Given the description of an element on the screen output the (x, y) to click on. 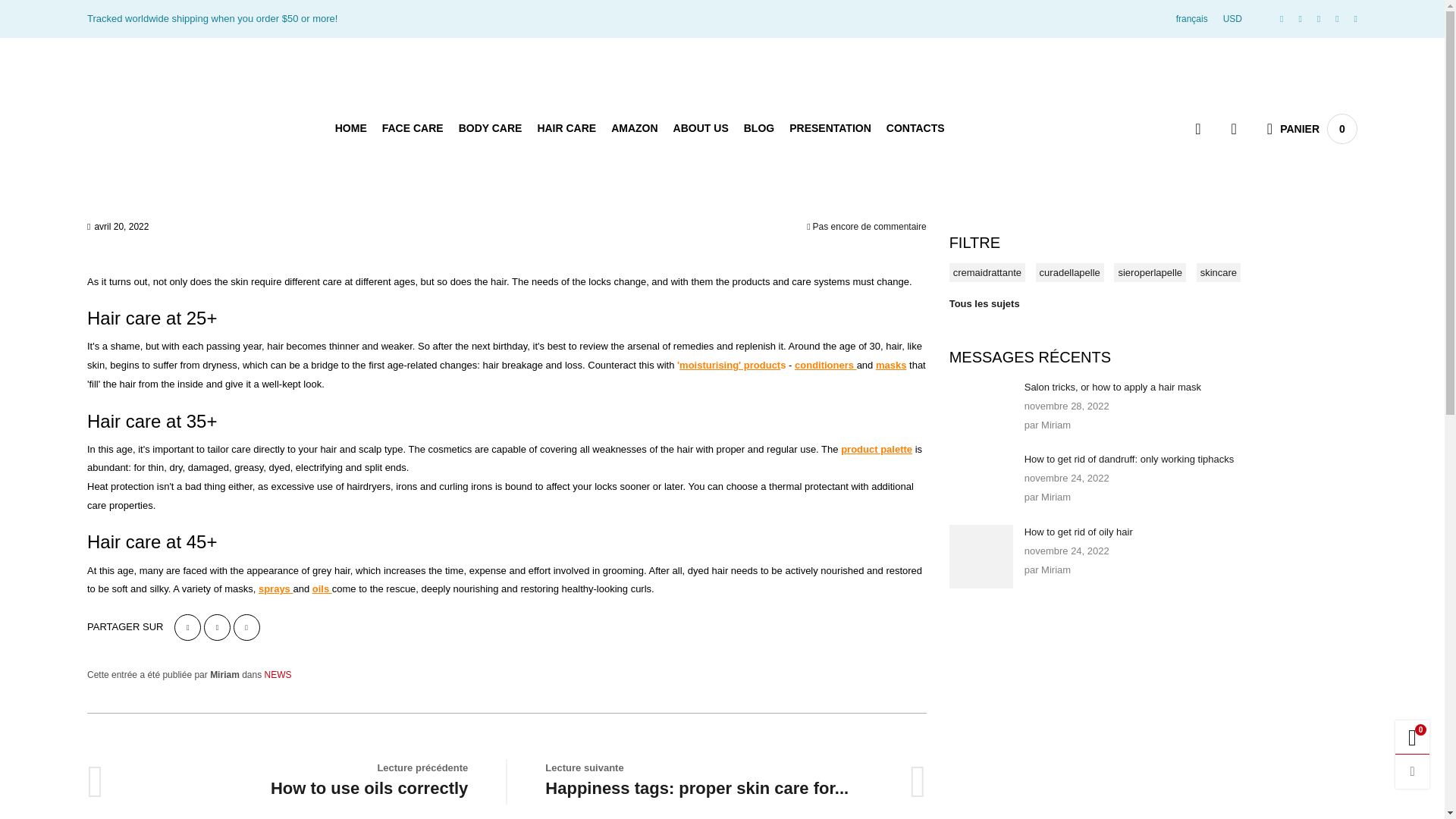
HOME (350, 127)
BODY CARE (490, 127)
HAIR CARE (566, 127)
FACE CARE (412, 127)
BODY CARE (490, 127)
PRESENTATION (829, 127)
FACE CARE (412, 127)
Rechercher (1197, 128)
Yofing (175, 126)
AMAZON (634, 127)
